Given the description of an element on the screen output the (x, y) to click on. 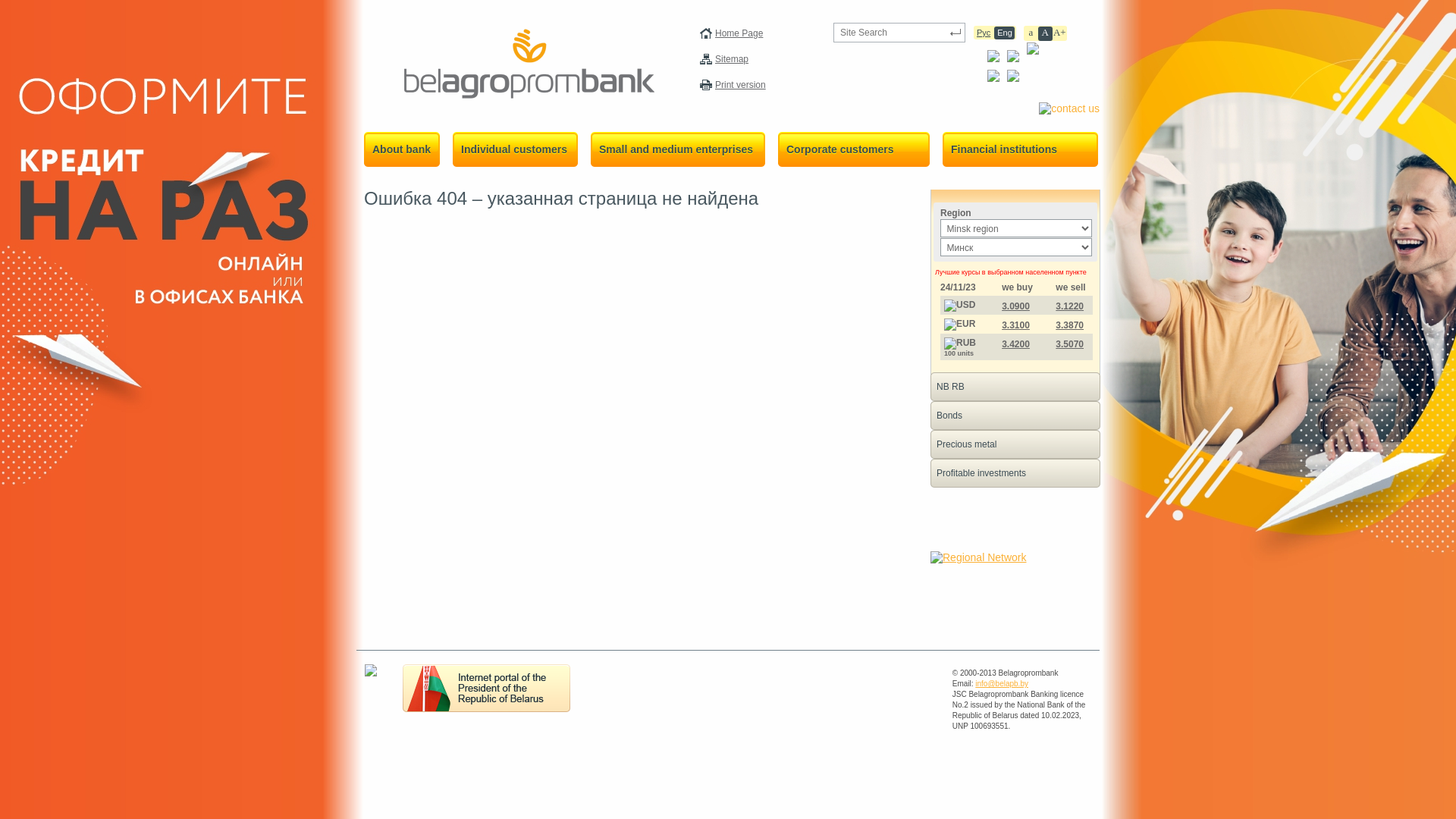
3.3870 Element type: text (1069, 325)
Print version Element type: text (740, 84)
Facebook Element type: hover (993, 58)
3.1220 Element type: text (1069, 306)
A Element type: text (1045, 33)
About bank Element type: text (400, 148)
Eng Element type: text (1004, 32)
Regional Network Element type: hover (978, 557)
a Element type: text (1030, 33)
info@belapb.by Element type: text (1001, 683)
Twitter Element type: hover (1013, 78)
Home Page Element type: text (738, 33)
3.0900 Element type: text (1015, 306)
Corporate customers Element type: text (851, 148)
Individual customers Element type: text (513, 148)
3.4200 Element type: text (1015, 343)
Sitemap Element type: text (731, 58)
A+ Element type: text (1059, 33)
Instagram Element type: hover (1013, 58)
Profitable investments Element type: text (1015, 472)
VK Element type: hover (993, 78)
3.3100 Element type: text (1015, 325)
3.5070 Element type: text (1069, 343)
Small and medium enterprises Element type: text (675, 148)
Financial institutions Element type: text (1018, 148)
